Given the description of an element on the screen output the (x, y) to click on. 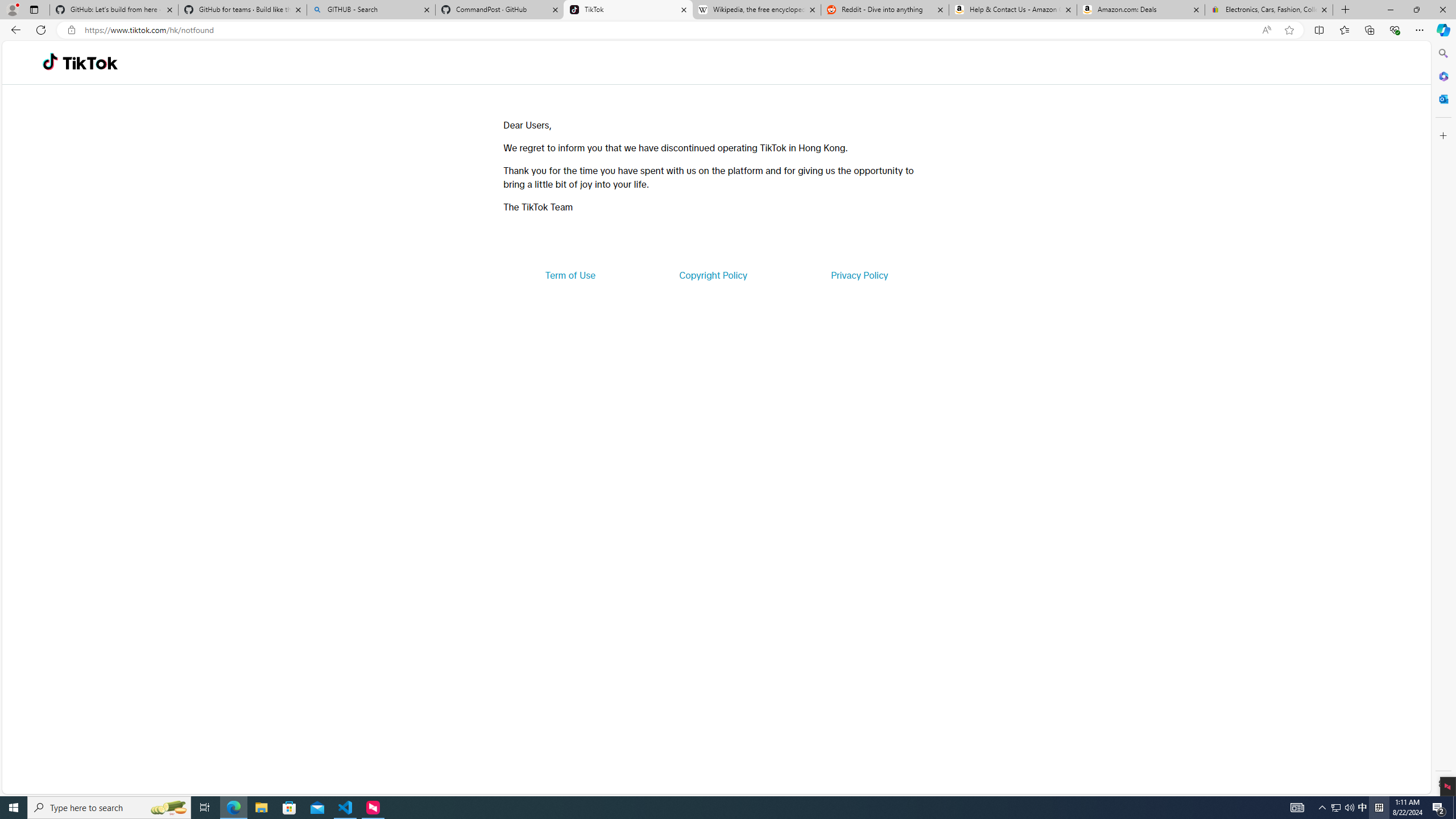
Amazon.com: Deals (1140, 9)
